Given the description of an element on the screen output the (x, y) to click on. 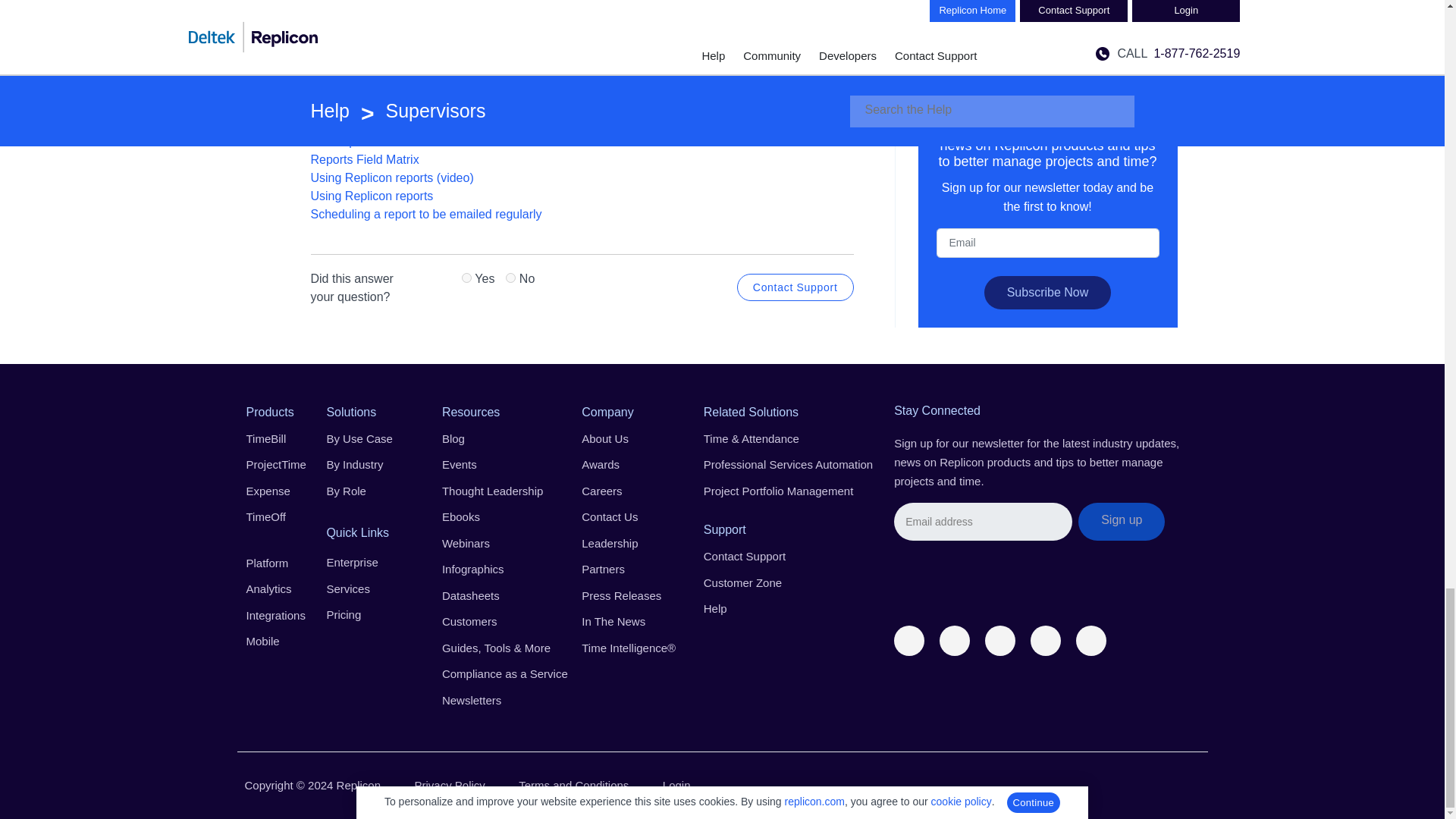
How report fields work (370, 141)
yes (466, 277)
no (510, 277)
Reports Field Matrix (365, 159)
Email (982, 521)
Using Replicon reports (372, 195)
